Given the description of an element on the screen output the (x, y) to click on. 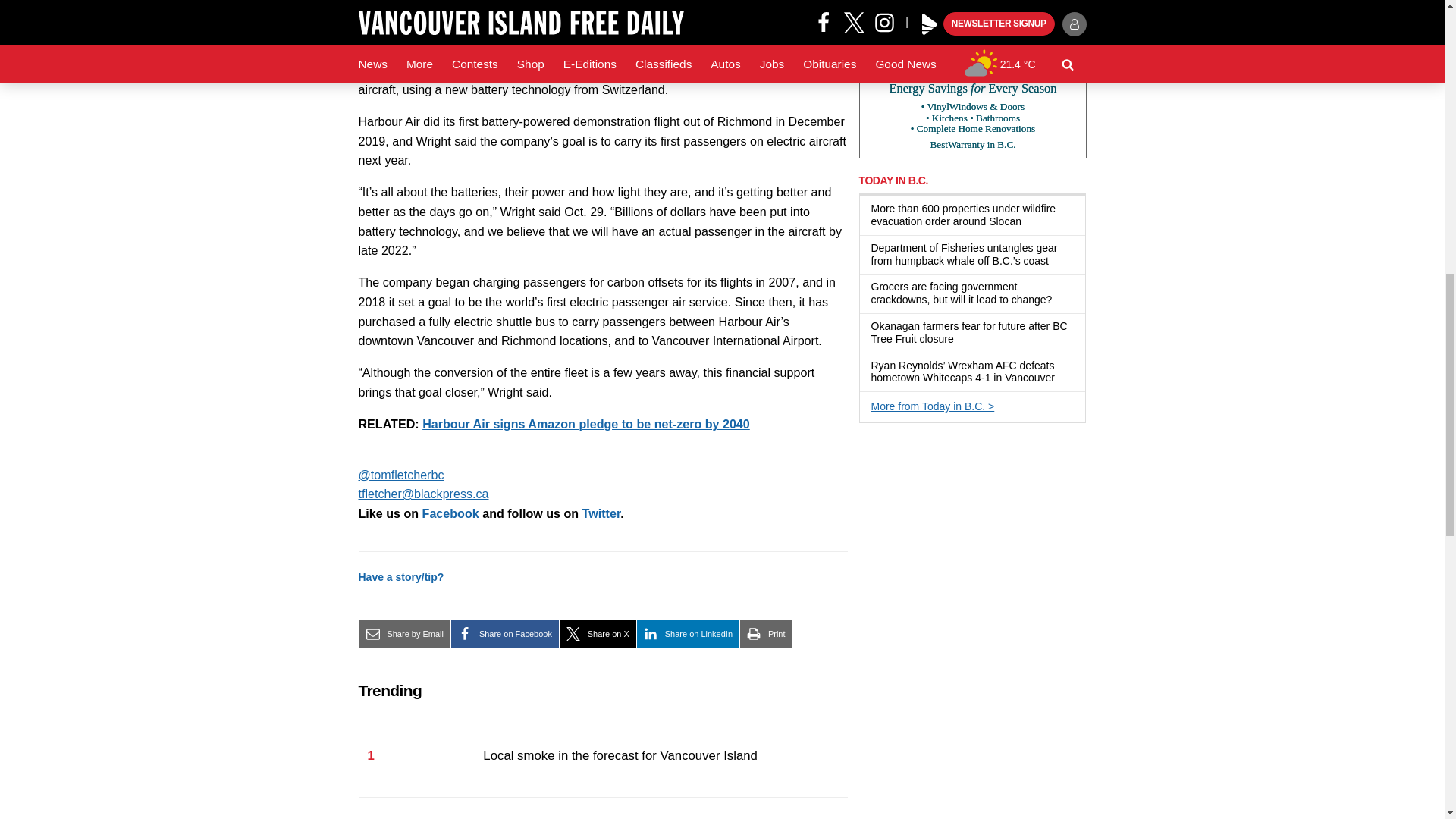
3rd party ad content (972, 533)
3rd party ad content (972, 79)
